Given the description of an element on the screen output the (x, y) to click on. 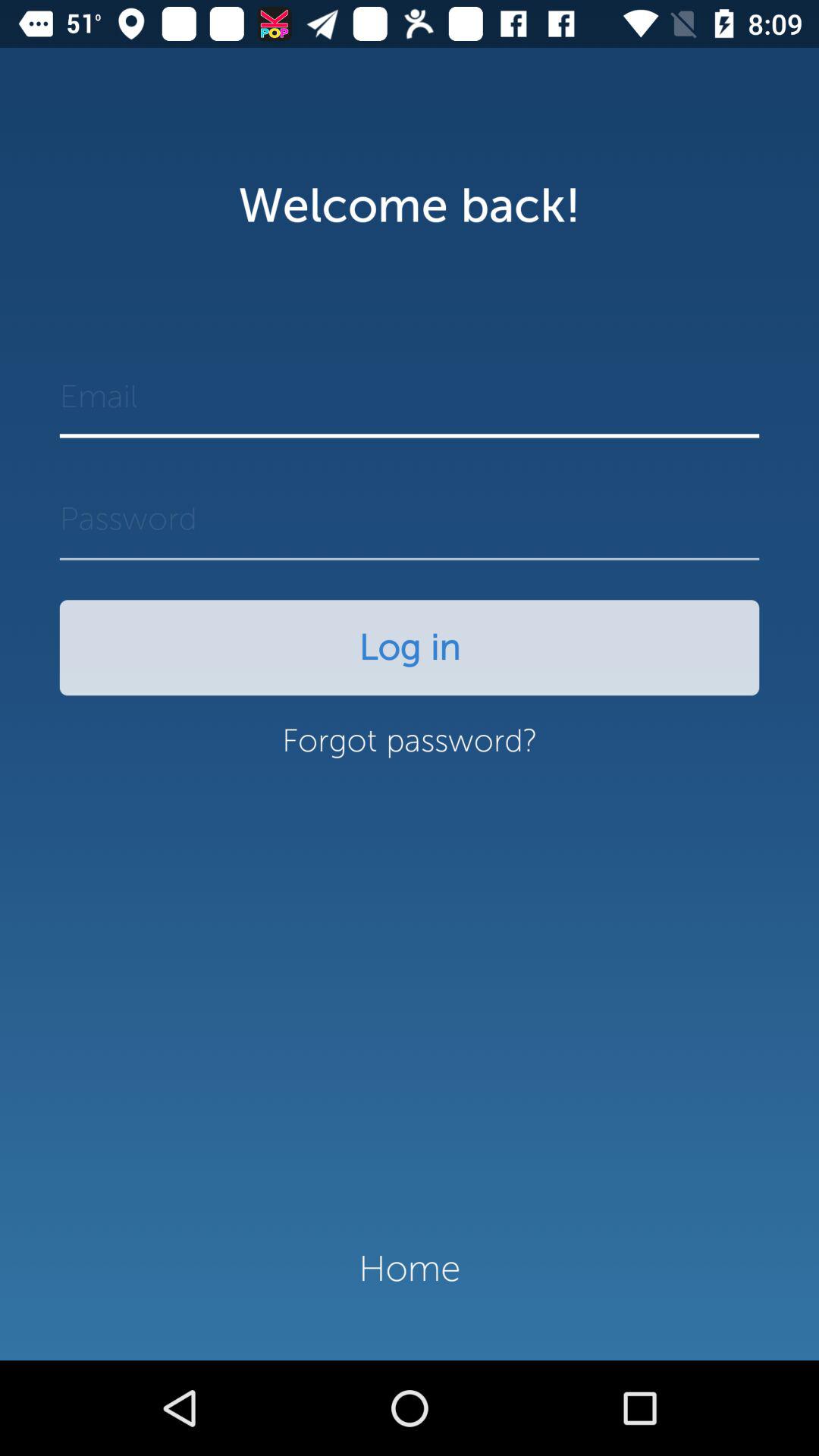
tap the item below the forgot password? icon (409, 1268)
